Given the description of an element on the screen output the (x, y) to click on. 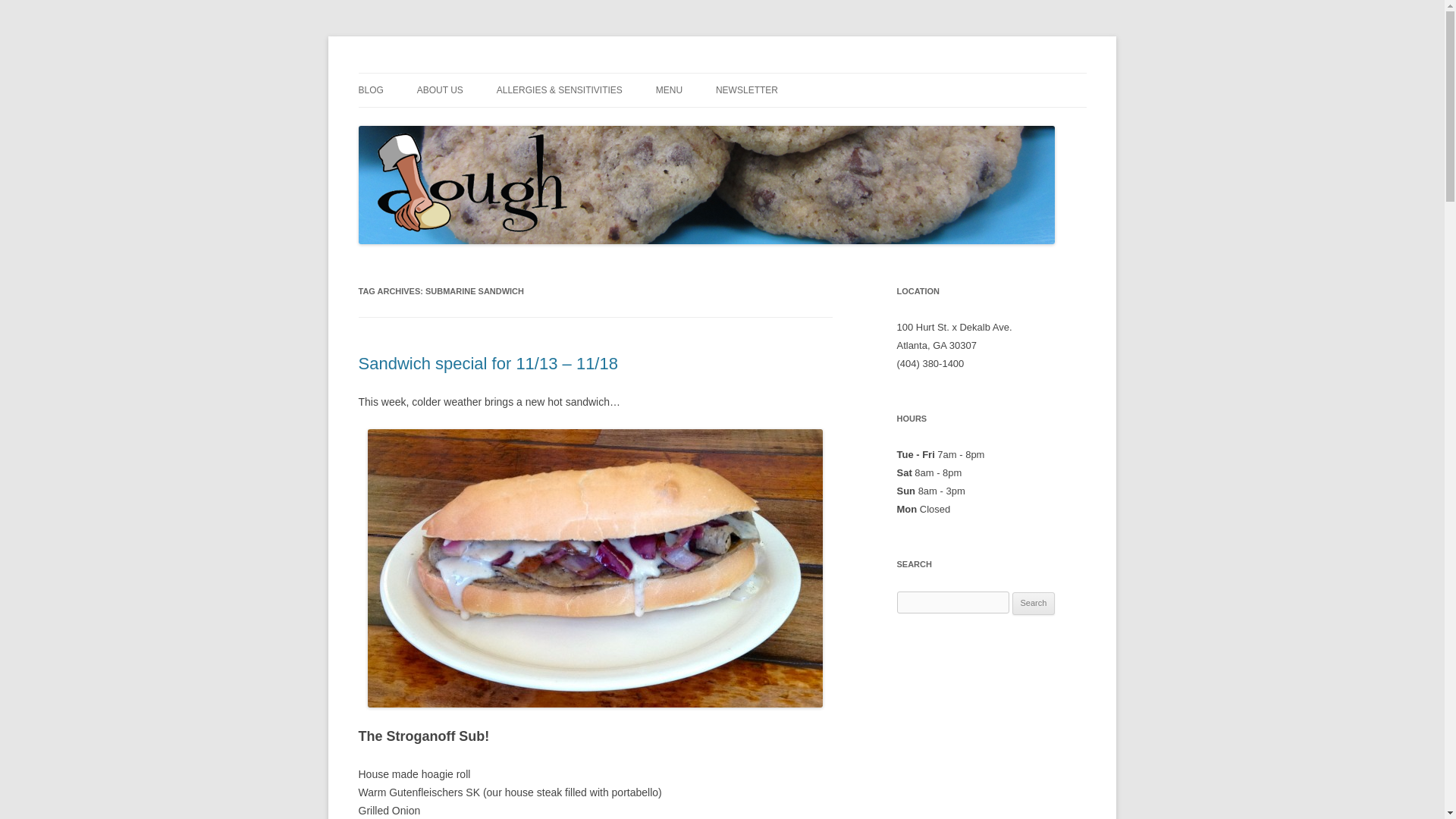
ABOUT US (492, 122)
stroganoff sub (595, 568)
Dough Bakery (425, 72)
NEWSLETTER (746, 90)
ABOUT US (439, 90)
Search (1033, 603)
